Given the description of an element on the screen output the (x, y) to click on. 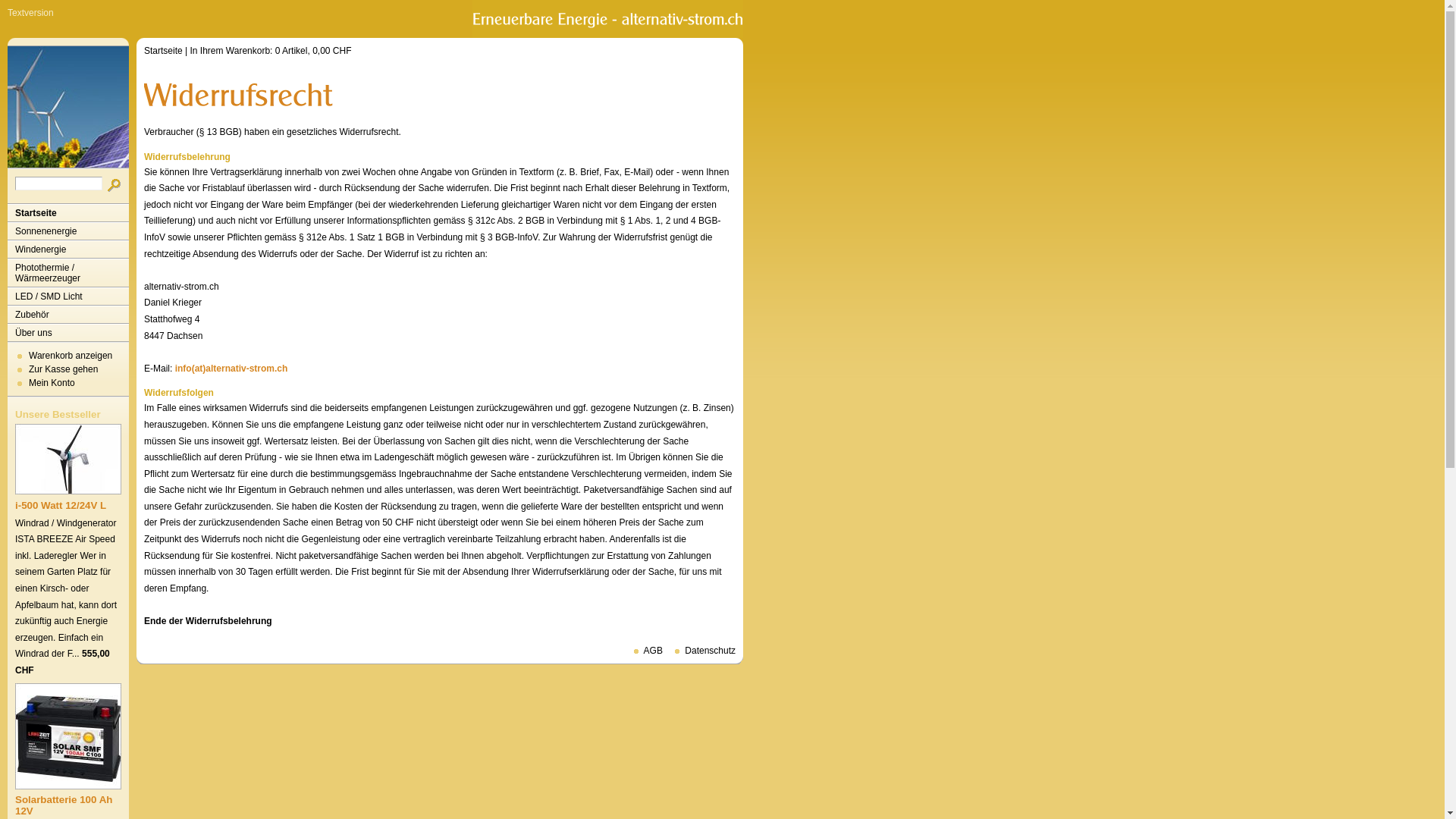
Sonnenenergie Element type: text (67, 231)
Zur Kasse gehen Element type: text (62, 369)
info(at)alternativ-strom.ch Element type: text (231, 368)
AGB Element type: text (643, 650)
LED / SMD Licht Element type: text (67, 296)
Startseite Element type: text (67, 212)
Datenschutz Element type: text (700, 650)
Solarbatterie 100 Ah 12V Element type: text (63, 804)
Windenergie Element type: text (67, 249)
Warenkorb anzeigen Element type: text (70, 355)
Textversion Element type: text (30, 12)
Mein Konto Element type: text (51, 382)
Startseite Element type: text (163, 50)
i-500 Watt 12/24V L Element type: text (60, 505)
